Given the description of an element on the screen output the (x, y) to click on. 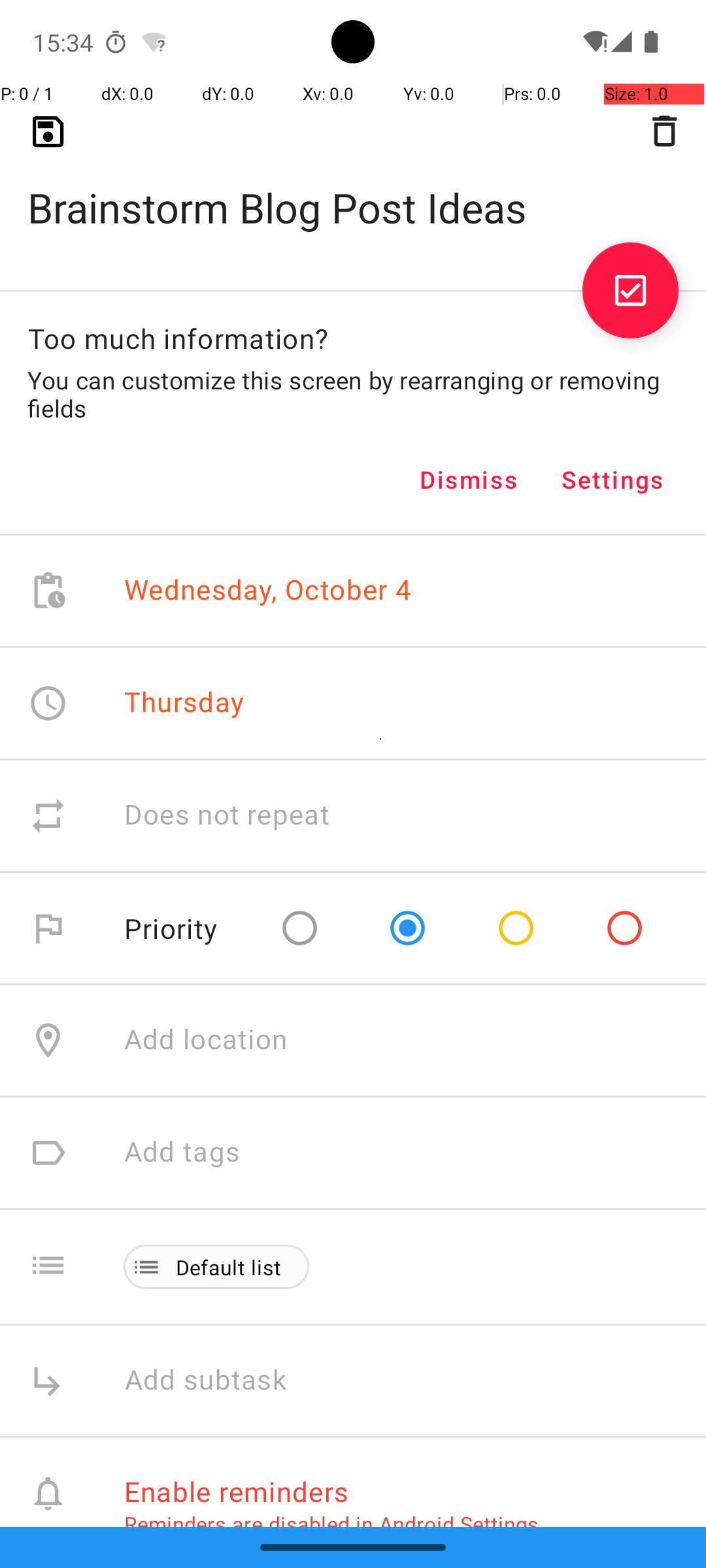
Wednesday, October 4 Element type: android.widget.TextView (267, 590)
